Given the description of an element on the screen output the (x, y) to click on. 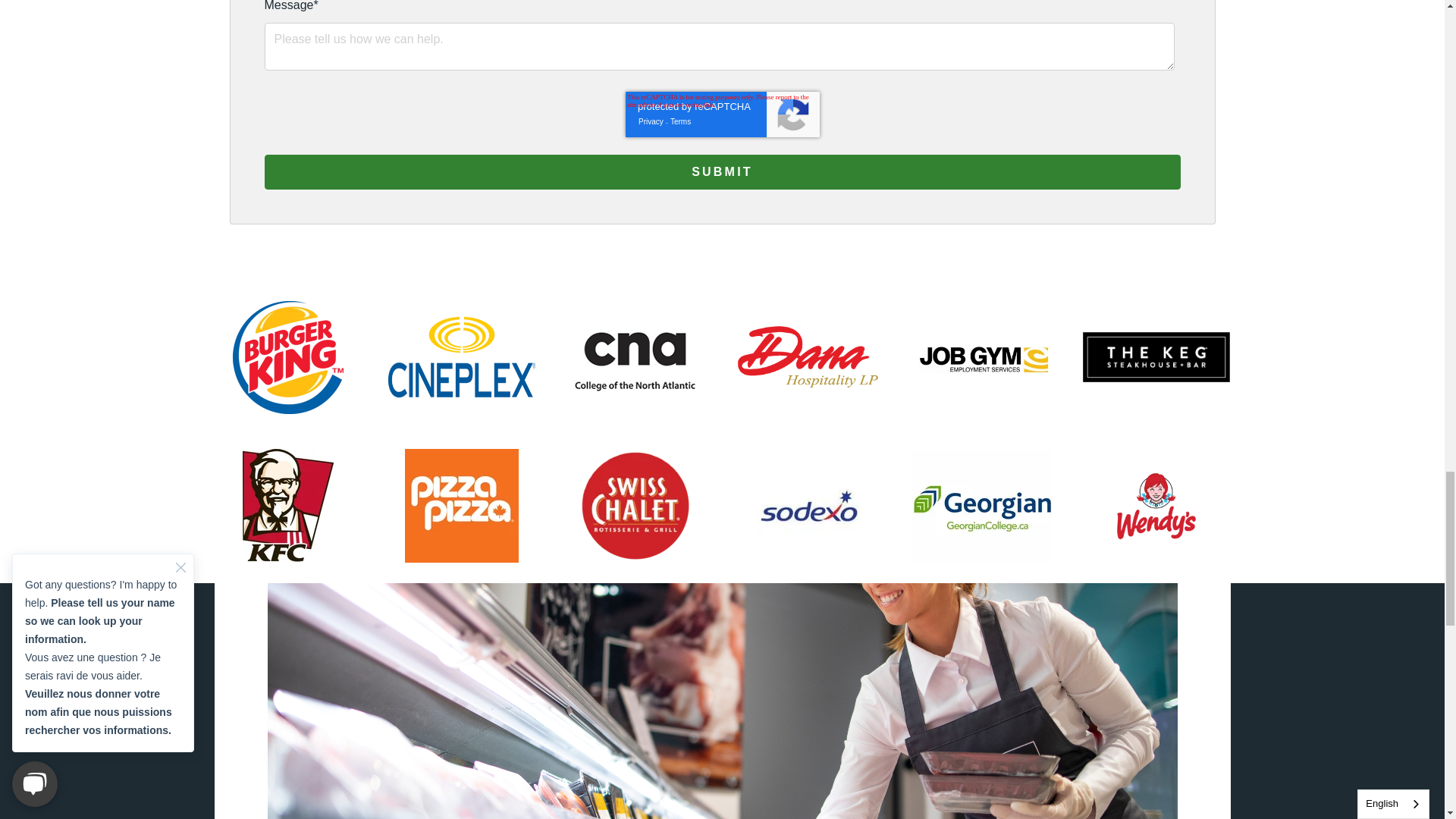
Dana-Hospitality-LP-Logo (809, 357)
cna-logo-170x172 (634, 357)
PizzaPizza-Logo (461, 505)
Submit (721, 171)
Keg-logo-black (1156, 357)
sodexo-canada-squarelogo-1424778733091 (809, 505)
Logo Wendys (1156, 506)
Marketing-New-brand-slider-Georgian-College-201408-1 (982, 505)
reCAPTCHA (721, 114)
